Given the description of an element on the screen output the (x, y) to click on. 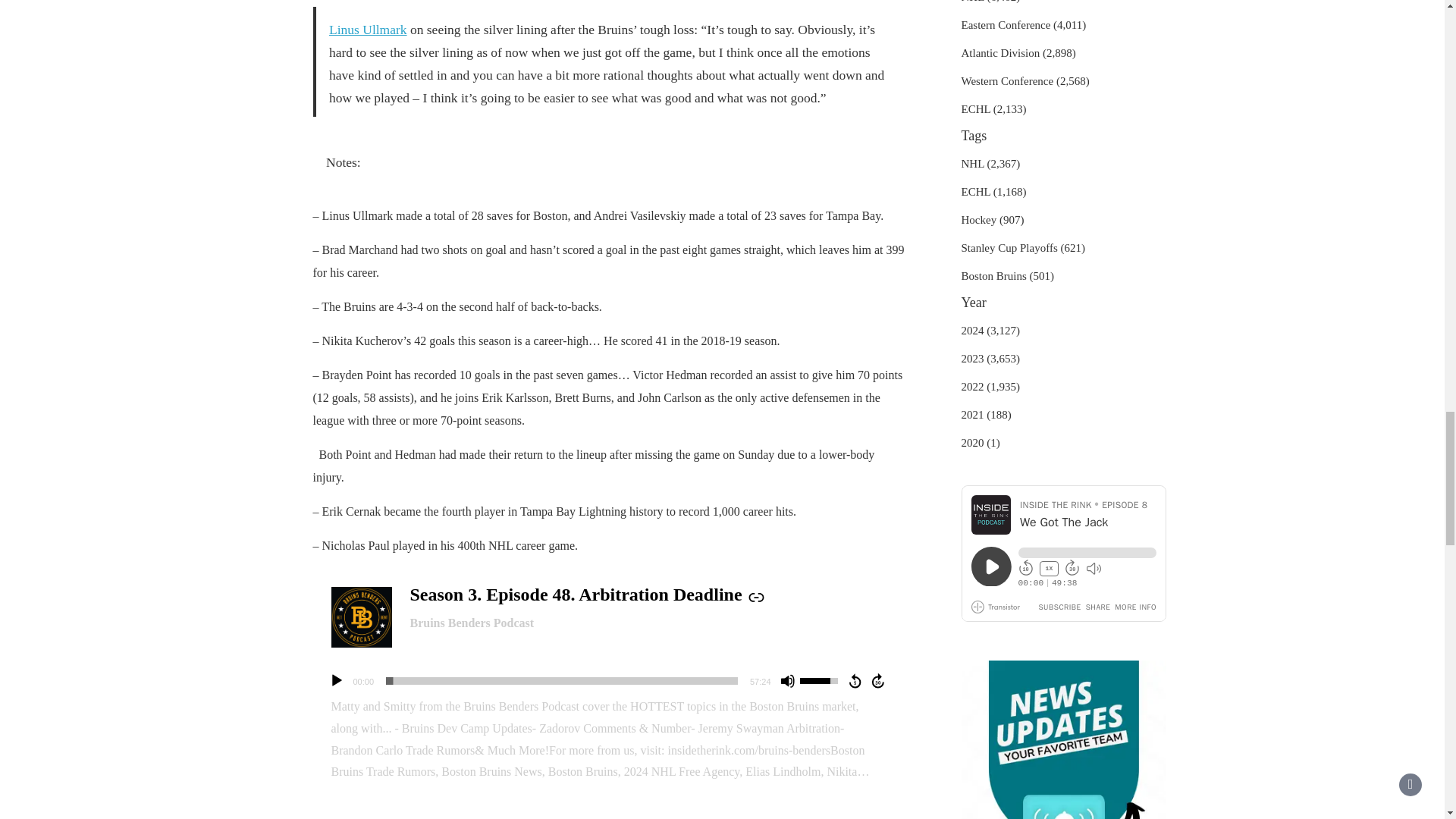
Jump Back (853, 680)
Play (336, 680)
Skip Forward (877, 680)
Mute (786, 680)
